Given the description of an element on the screen output the (x, y) to click on. 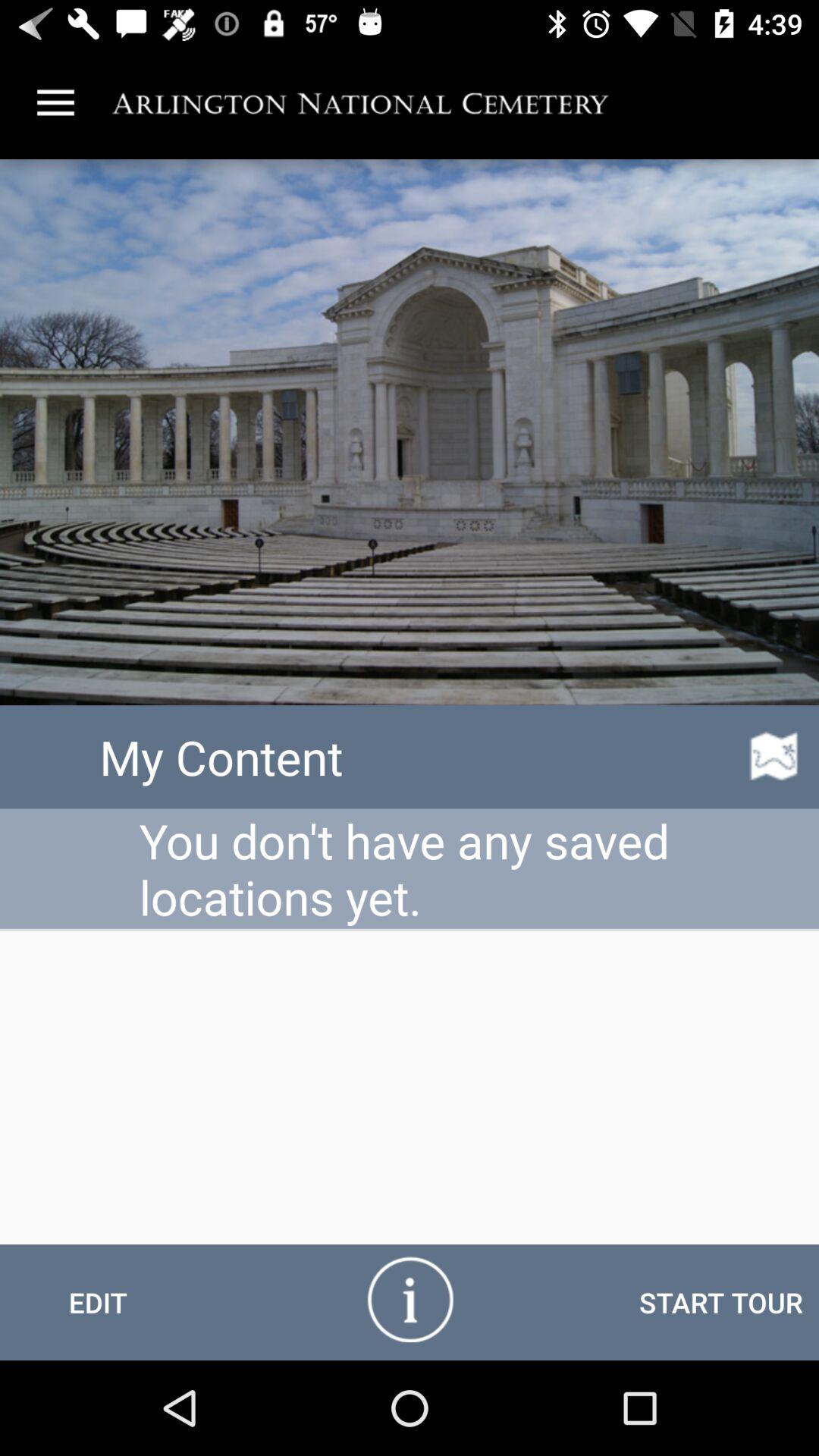
show more information (409, 1298)
